Given the description of an element on the screen output the (x, y) to click on. 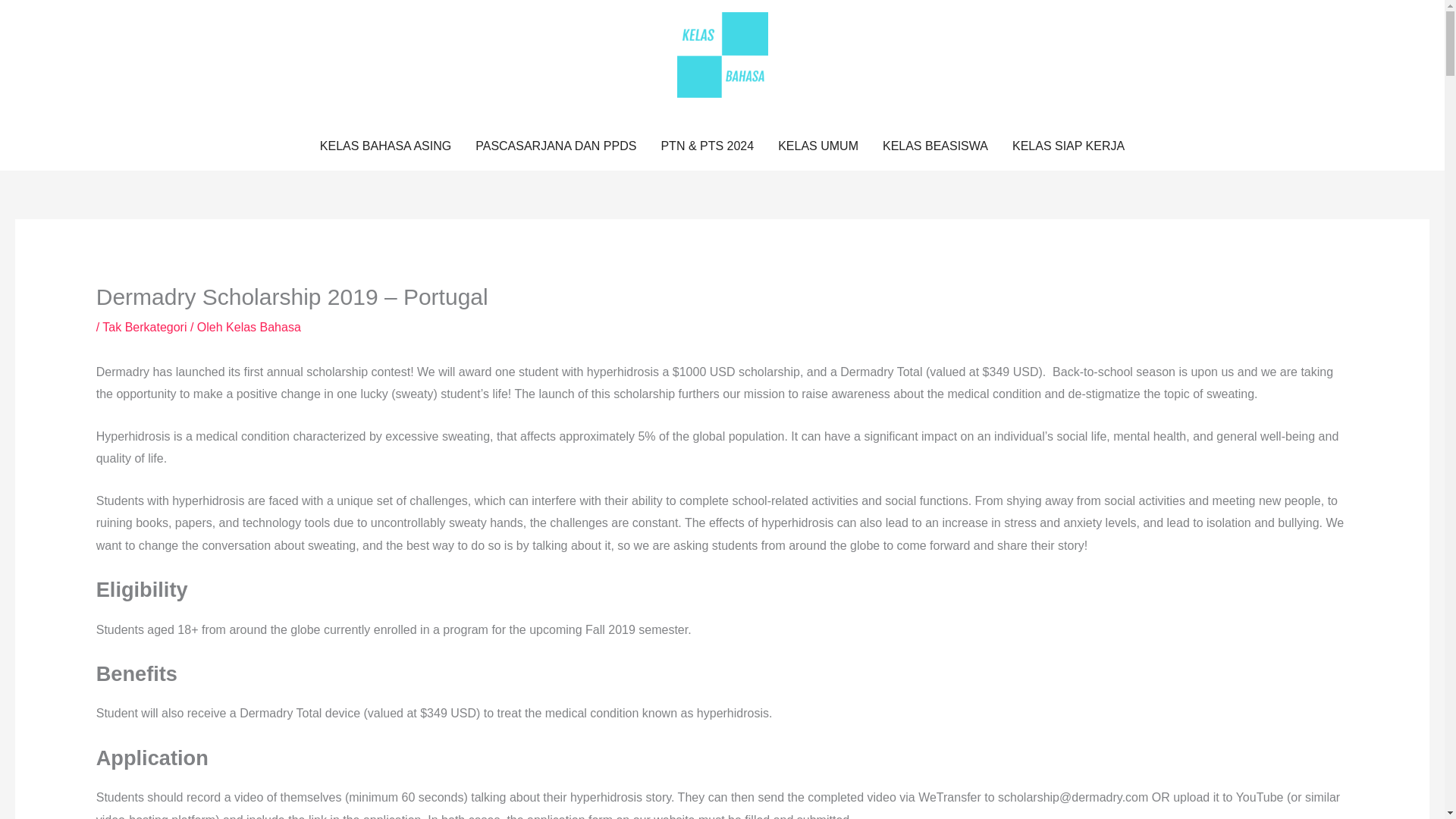
PASCASARJANA DAN PPDS (555, 146)
KELAS SIAP KERJA (1068, 146)
Kelas Bahasa (263, 327)
Lihat seluruh tulisan oleh Kelas Bahasa (263, 327)
KELAS BEASISWA (935, 146)
Tak Berkategori (143, 327)
KELAS UMUM (817, 146)
KELAS BAHASA ASING (385, 146)
